Given the description of an element on the screen output the (x, y) to click on. 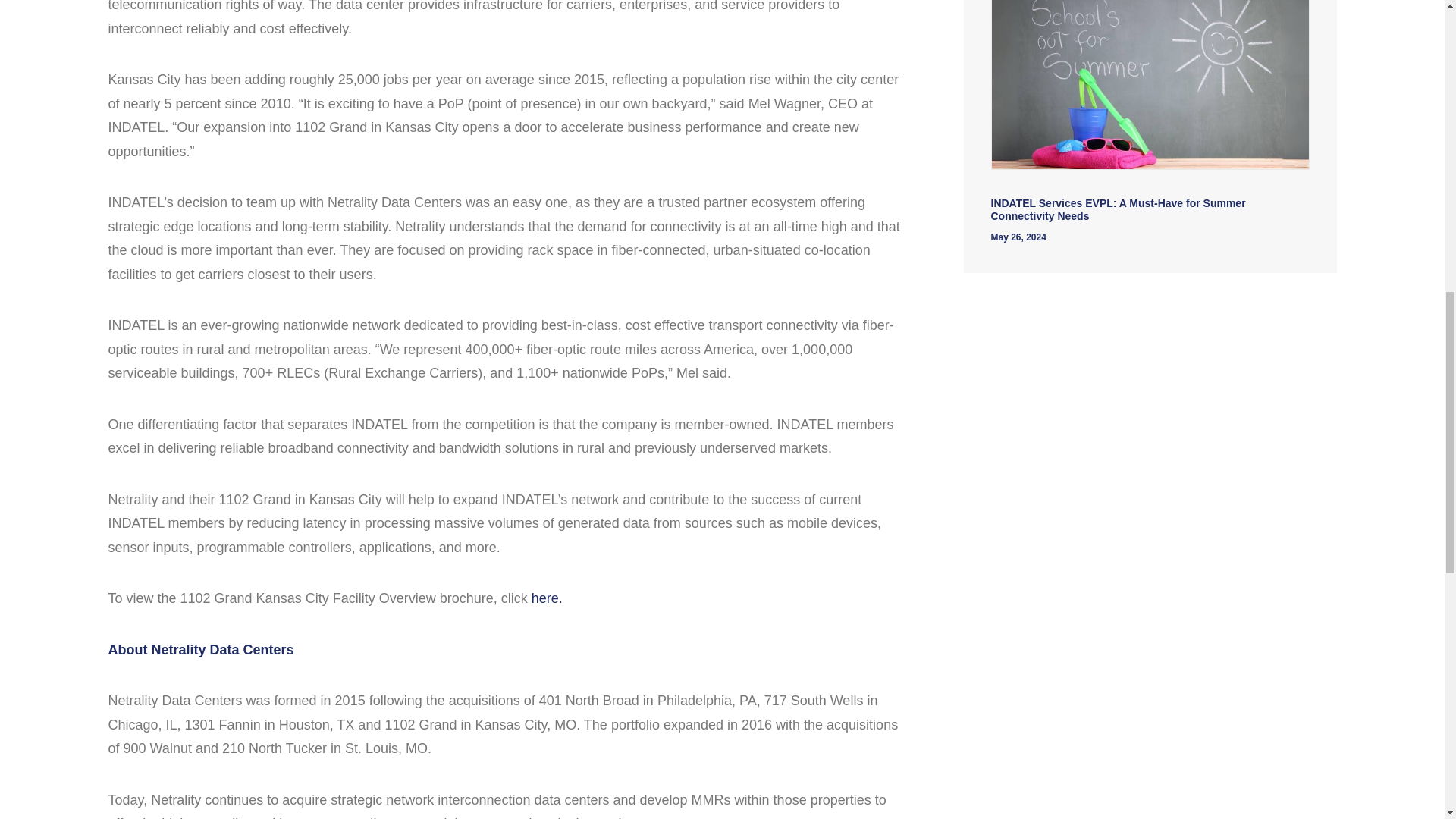
here. (546, 598)
